Given the description of an element on the screen output the (x, y) to click on. 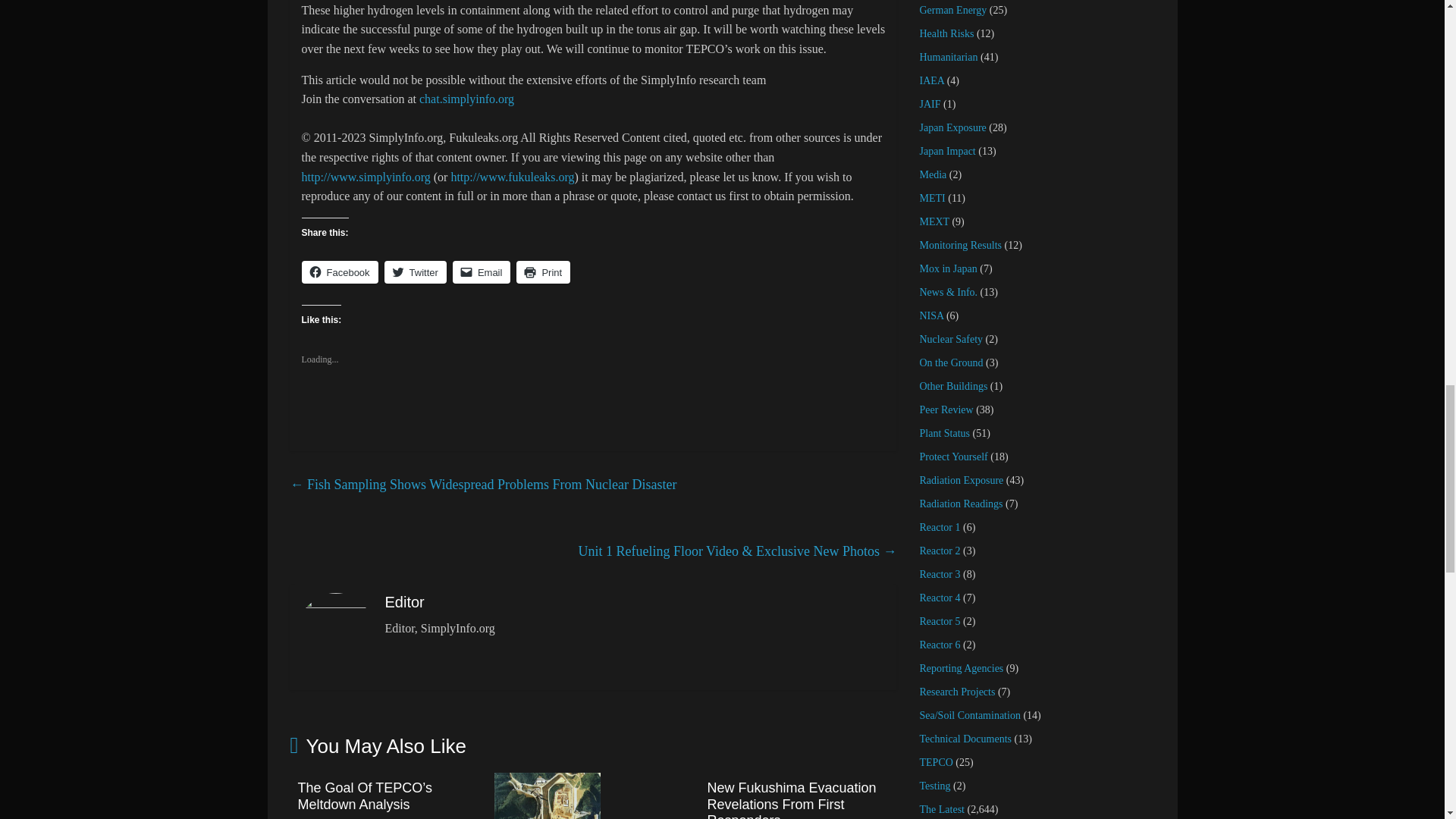
Click to email a link to a friend (481, 272)
Click to share on Facebook (339, 272)
Click to print (543, 272)
Click to share on Twitter (415, 272)
Like or Reblog (593, 411)
